Given the description of an element on the screen output the (x, y) to click on. 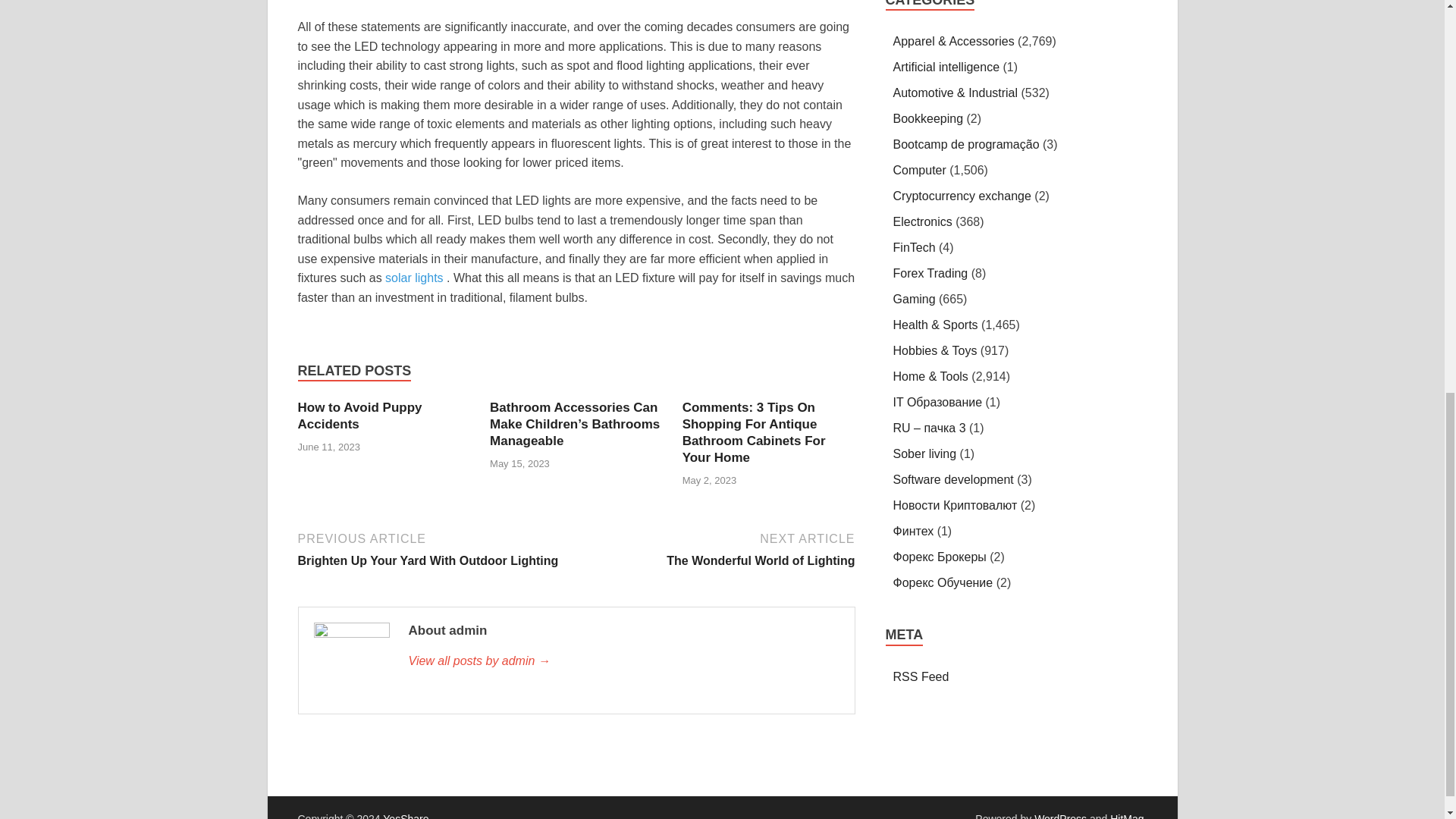
How to Avoid Puppy Accidents (359, 415)
solar lights (413, 277)
admin (622, 660)
